Given the description of an element on the screen output the (x, y) to click on. 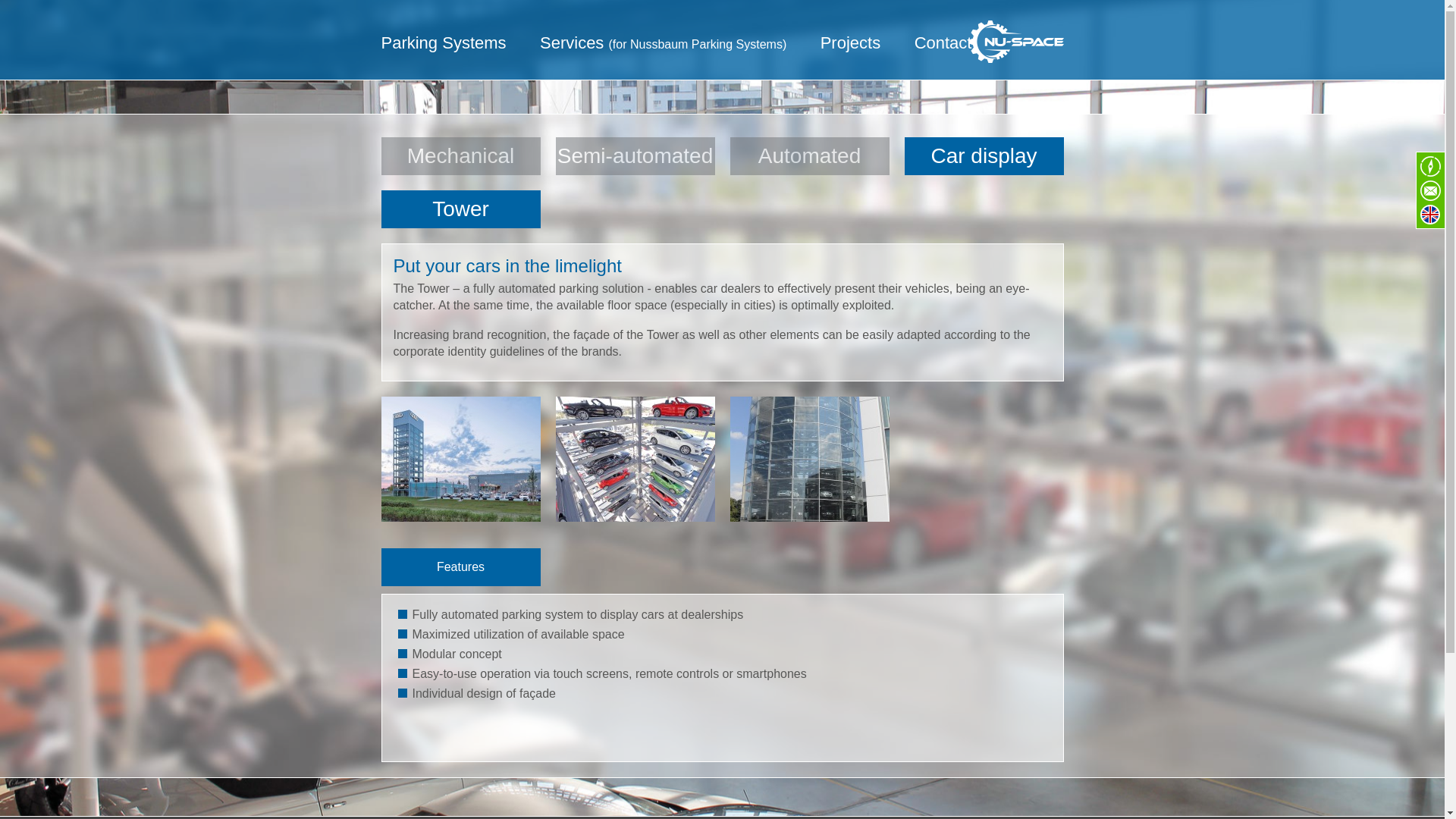
Car display (983, 156)
Projects (850, 50)
Tower (460, 209)
Features (460, 566)
Automated (808, 156)
en (1430, 214)
Semi-automated (634, 156)
Parking Systems (442, 50)
Contact (943, 50)
Mechanical (460, 156)
